Given the description of an element on the screen output the (x, y) to click on. 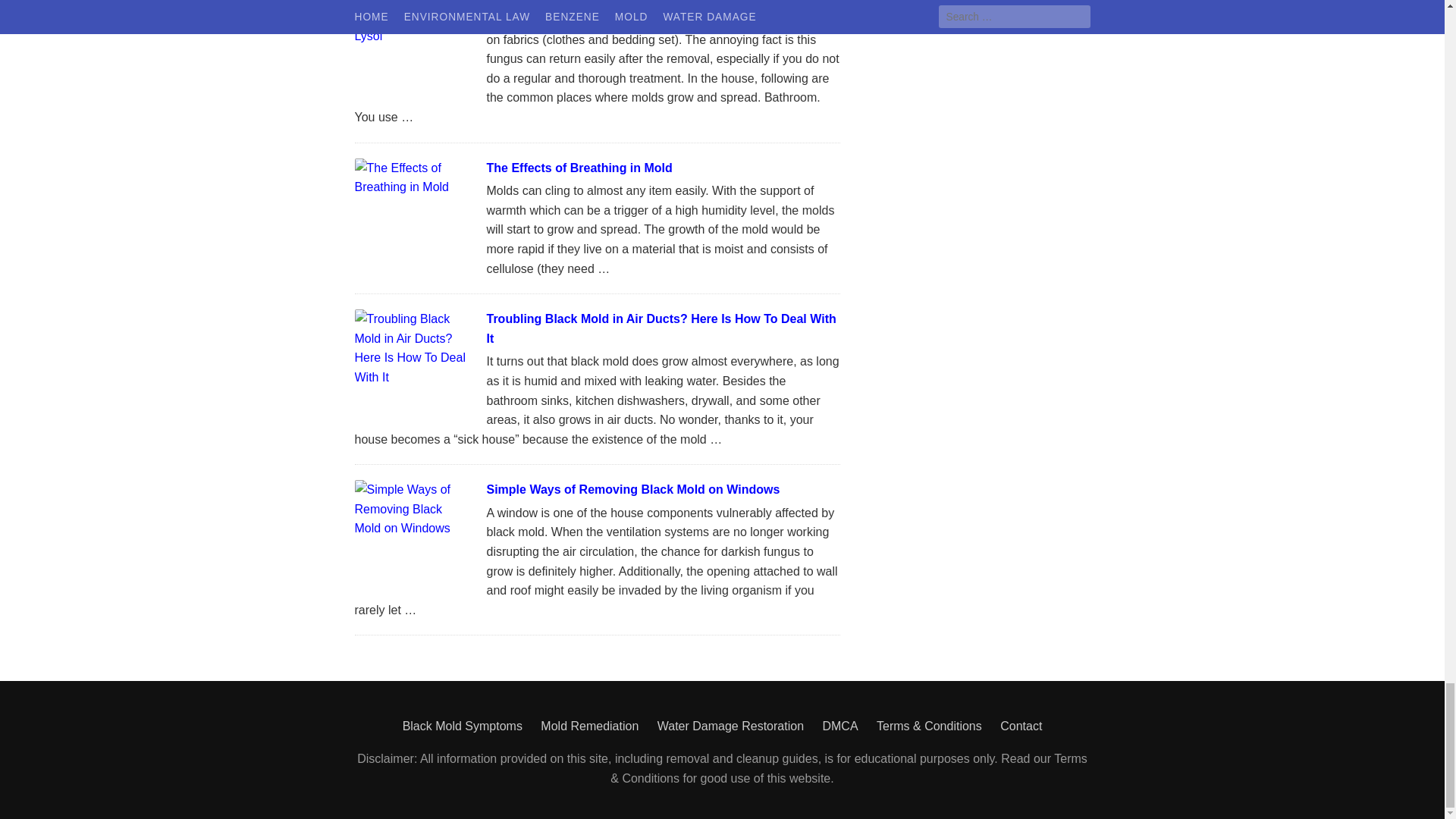
This Is How to Remove Mold Using Lysol (604, 1)
Simple Ways of Removing Black Mold on Windows (633, 489)
The Effects of Breathing in Mold (579, 167)
